Given the description of an element on the screen output the (x, y) to click on. 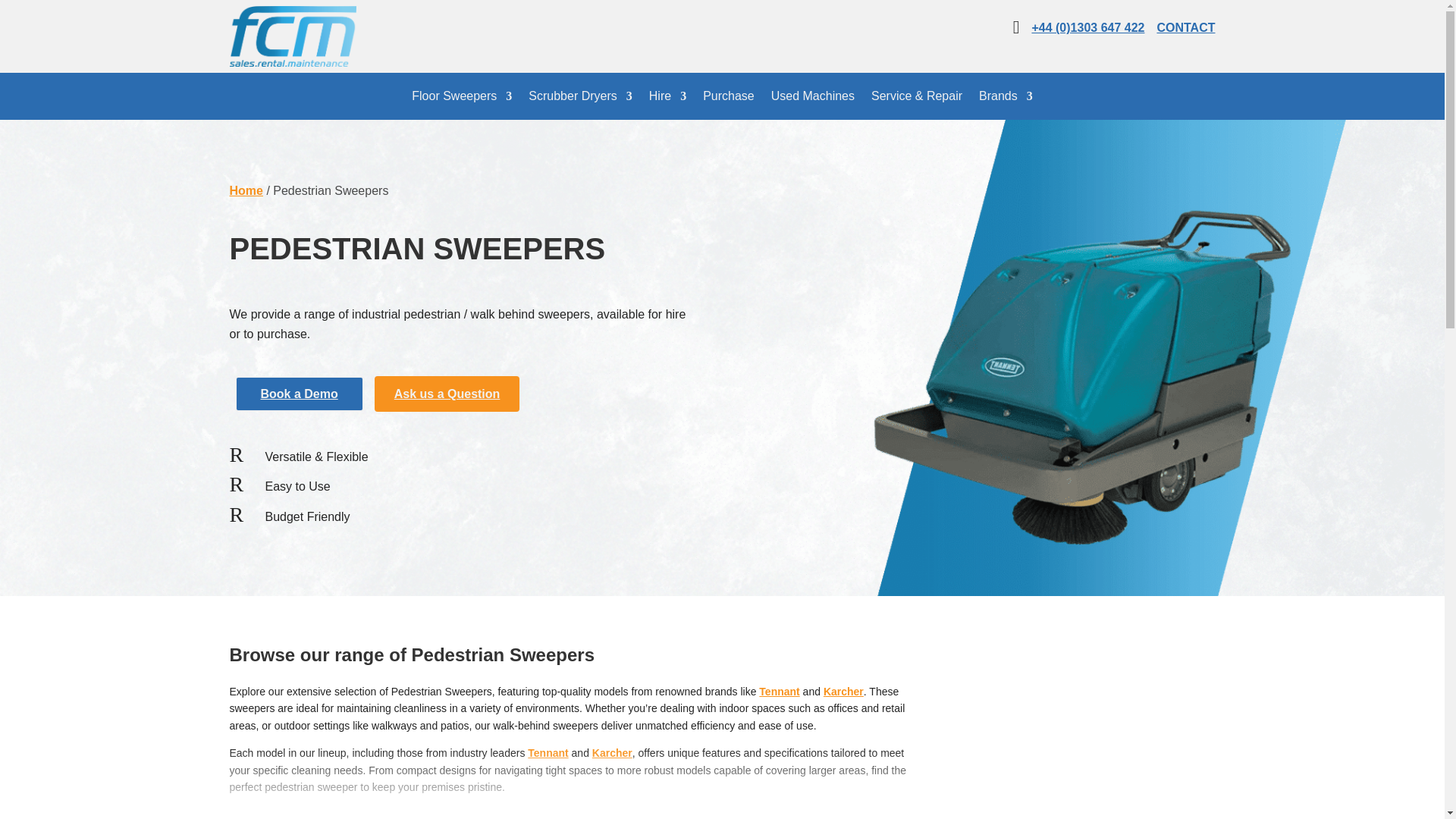
Used Machines (812, 98)
CONTACT (1185, 27)
FCM-gradient-logo-min (291, 35)
Purchase (728, 98)
Hire (667, 98)
Scrubber Dryers (579, 98)
Floor Sweepers (462, 98)
Brands (1005, 98)
